Given the description of an element on the screen output the (x, y) to click on. 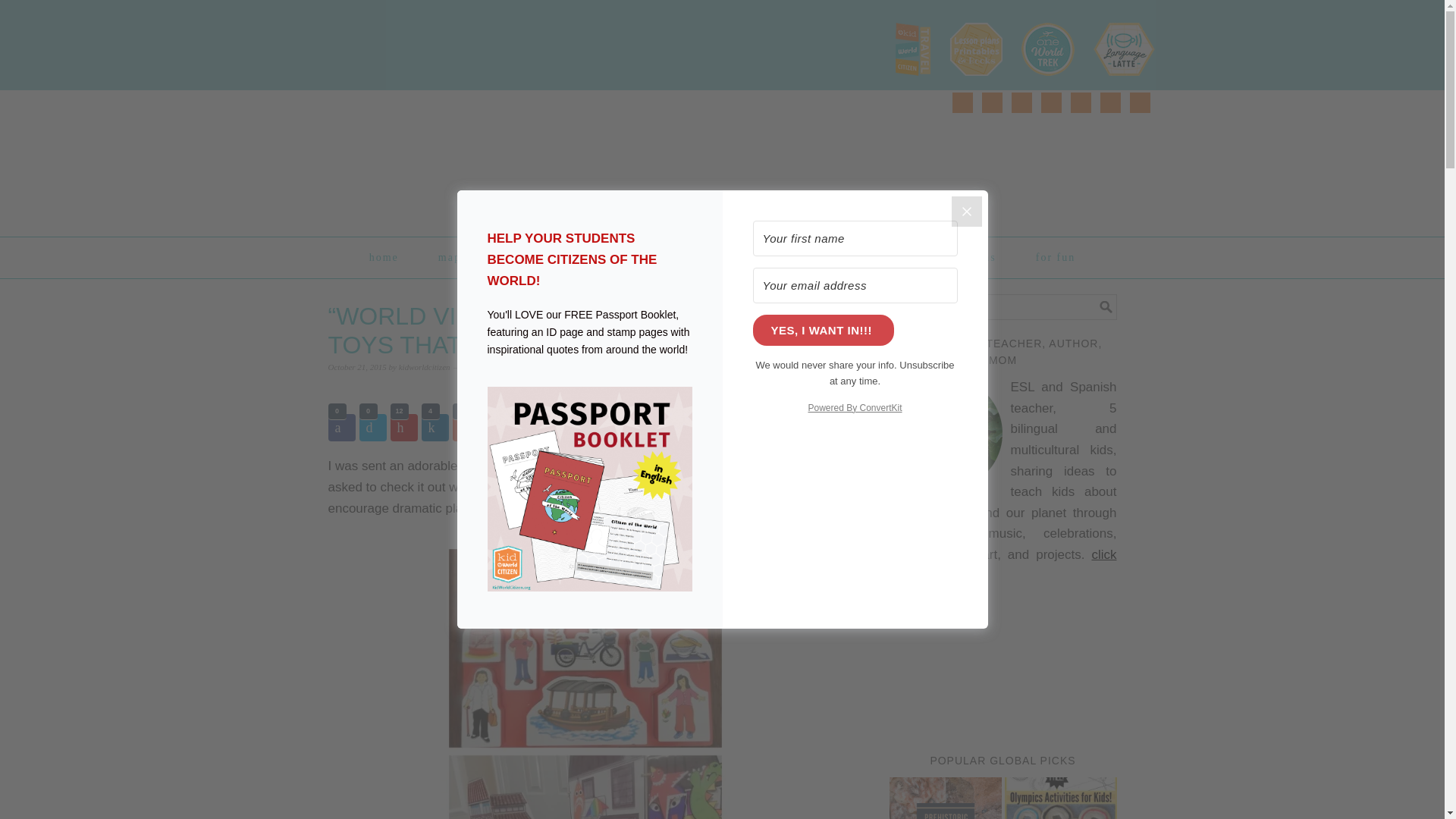
food (706, 256)
Olympics Activities for Kids (1060, 798)
Whole Wide World Toys, (736, 465)
kidworldcitizen (423, 366)
map search (469, 256)
geography (569, 256)
KID WORLD CITIZEN (483, 156)
art (646, 256)
celebrations (960, 256)
books (774, 256)
home (383, 256)
Learn about and Visit Early Human Cave Paintings (944, 798)
languages (858, 256)
